Given the description of an element on the screen output the (x, y) to click on. 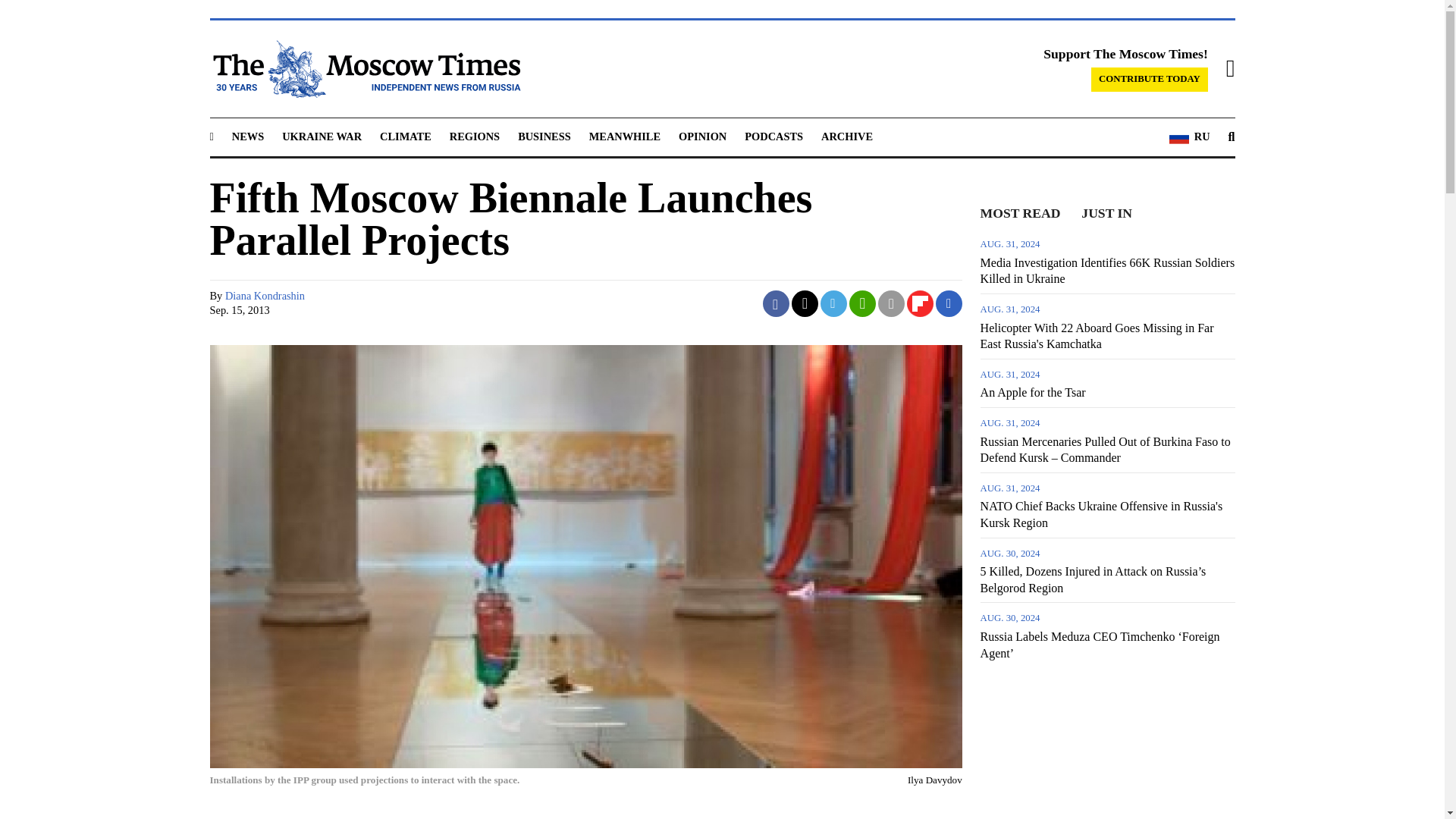
MEANWHILE (625, 136)
NEWS (247, 136)
BUSINESS (544, 136)
Diana Kondrashin (264, 295)
ARCHIVE (846, 136)
REGIONS (474, 136)
Share on Telegram (834, 303)
Share on Twitter (805, 303)
Share on Flipboard (920, 303)
The Moscow Times - Independent News from Russia (364, 68)
